Given the description of an element on the screen output the (x, y) to click on. 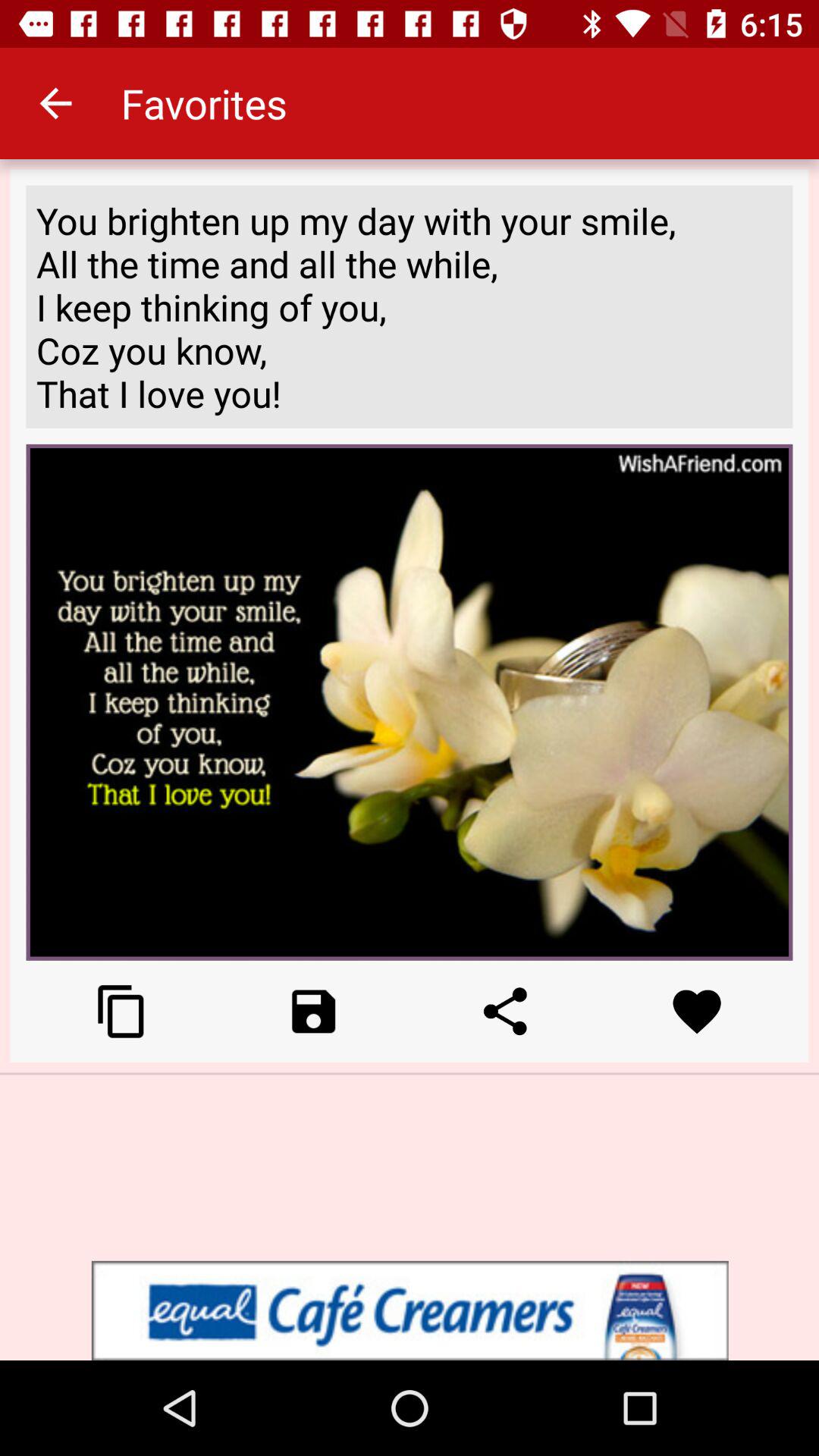
favourites (696, 1011)
